Given the description of an element on the screen output the (x, y) to click on. 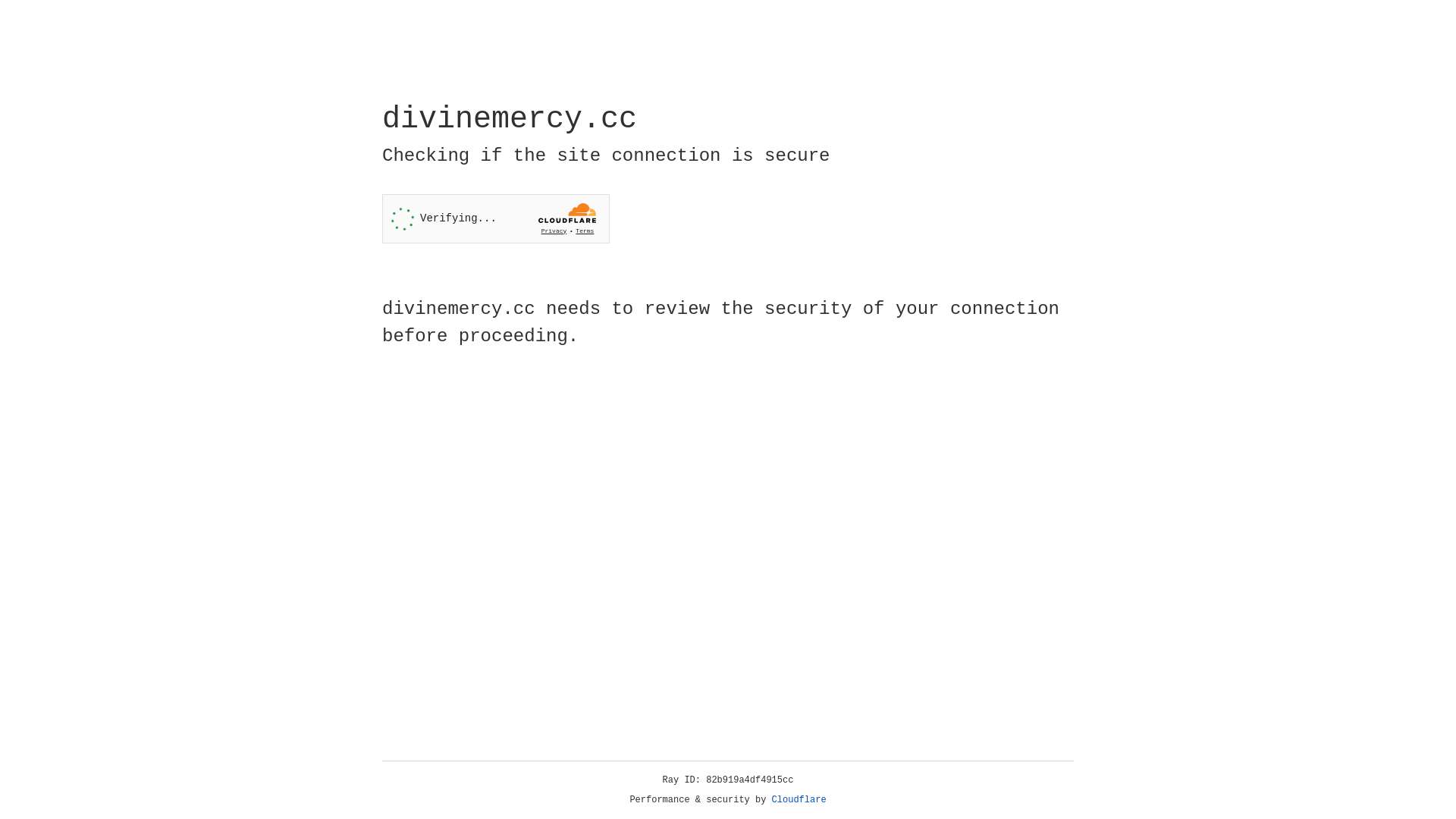
Cloudflare Element type: text (798, 799)
Widget containing a Cloudflare security challenge Element type: hover (495, 218)
